Given the description of an element on the screen output the (x, y) to click on. 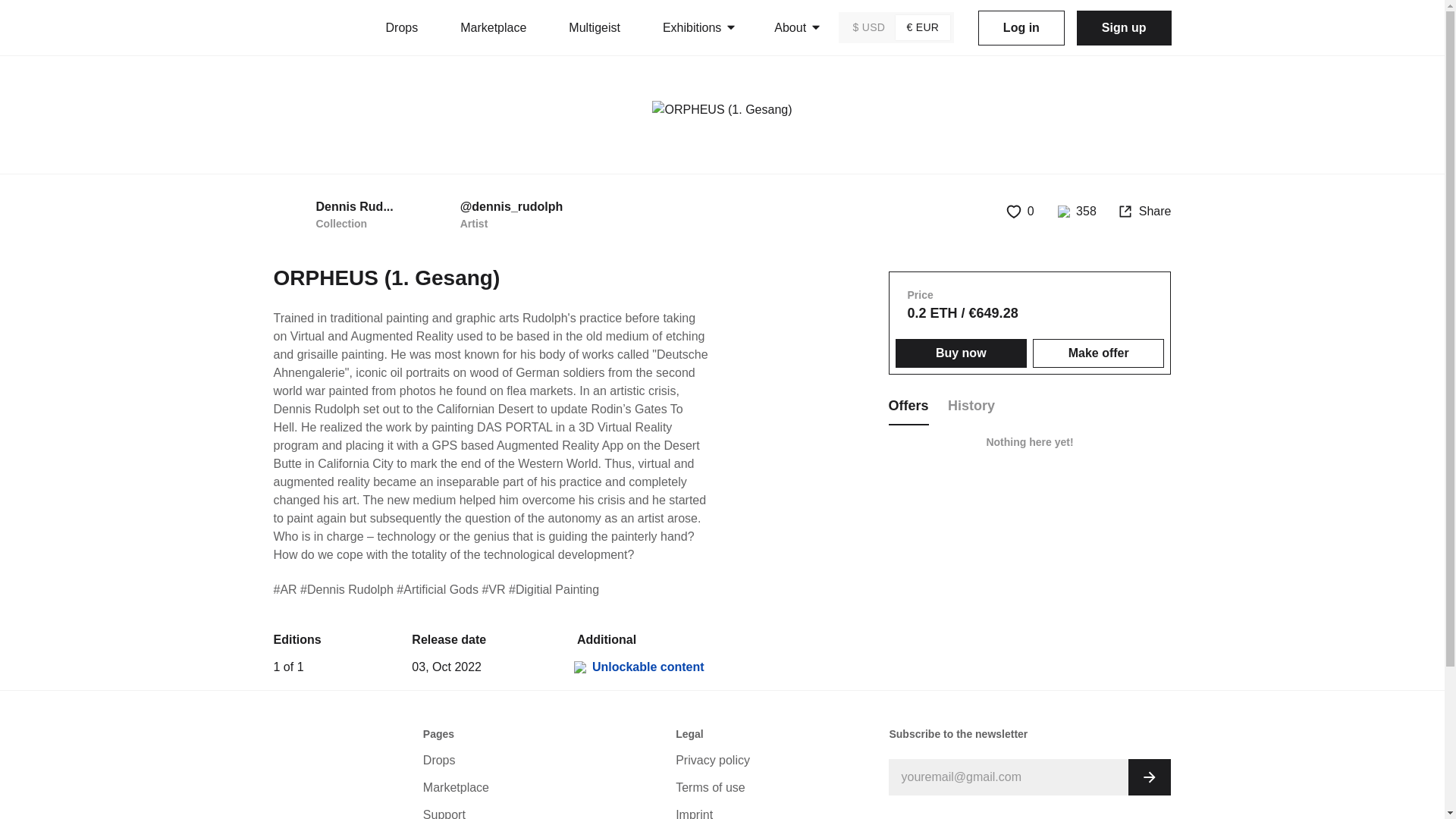
Log in (333, 214)
Imprint (1021, 27)
Make offer (738, 810)
Drops (1097, 353)
0 (1030, 405)
Offers (400, 26)
Unlockable content (1021, 211)
Marketplace (908, 405)
History (640, 667)
Marketplace (493, 26)
Privacy policy (971, 405)
Exhibitions (486, 787)
Buy now (738, 759)
